Given the description of an element on the screen output the (x, y) to click on. 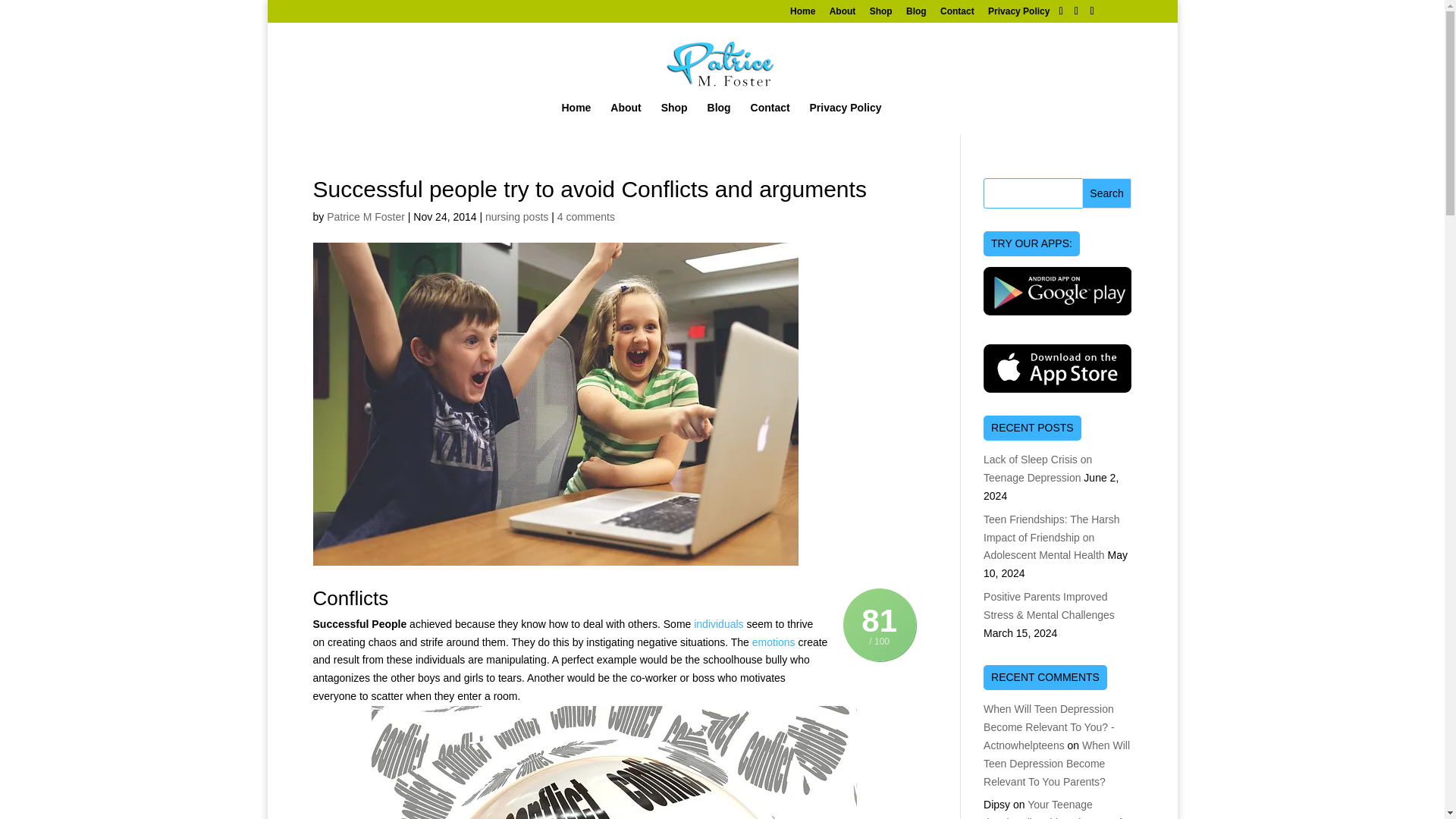
4 comments (585, 216)
Search (1106, 193)
Privacy Policy (1018, 14)
Home (802, 14)
Posts by Patrice M Foster (365, 216)
nursing posts (516, 216)
Individual (718, 623)
About (842, 14)
Shop (674, 114)
Privacy Policy (845, 114)
